Given the description of an element on the screen output the (x, y) to click on. 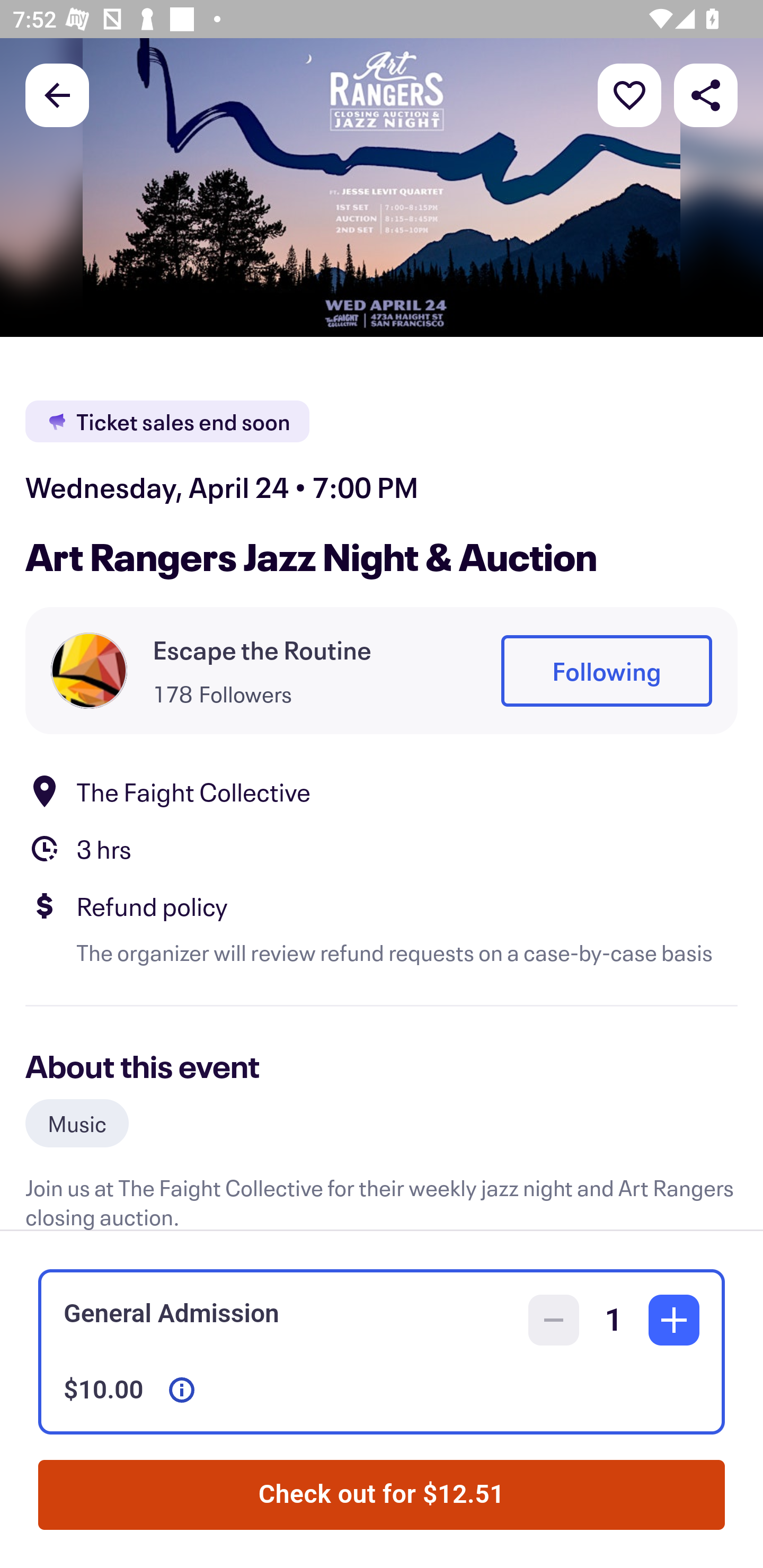
Back (57, 94)
More (629, 94)
Share (705, 94)
Escape the Routine (262, 649)
Organizer profile picture (89, 669)
Following (606, 670)
Location The Faight Collective (381, 790)
Decrease (553, 1320)
Increase (673, 1320)
Show more information (181, 1389)
Check out for $12.51 (381, 1494)
